Given the description of an element on the screen output the (x, y) to click on. 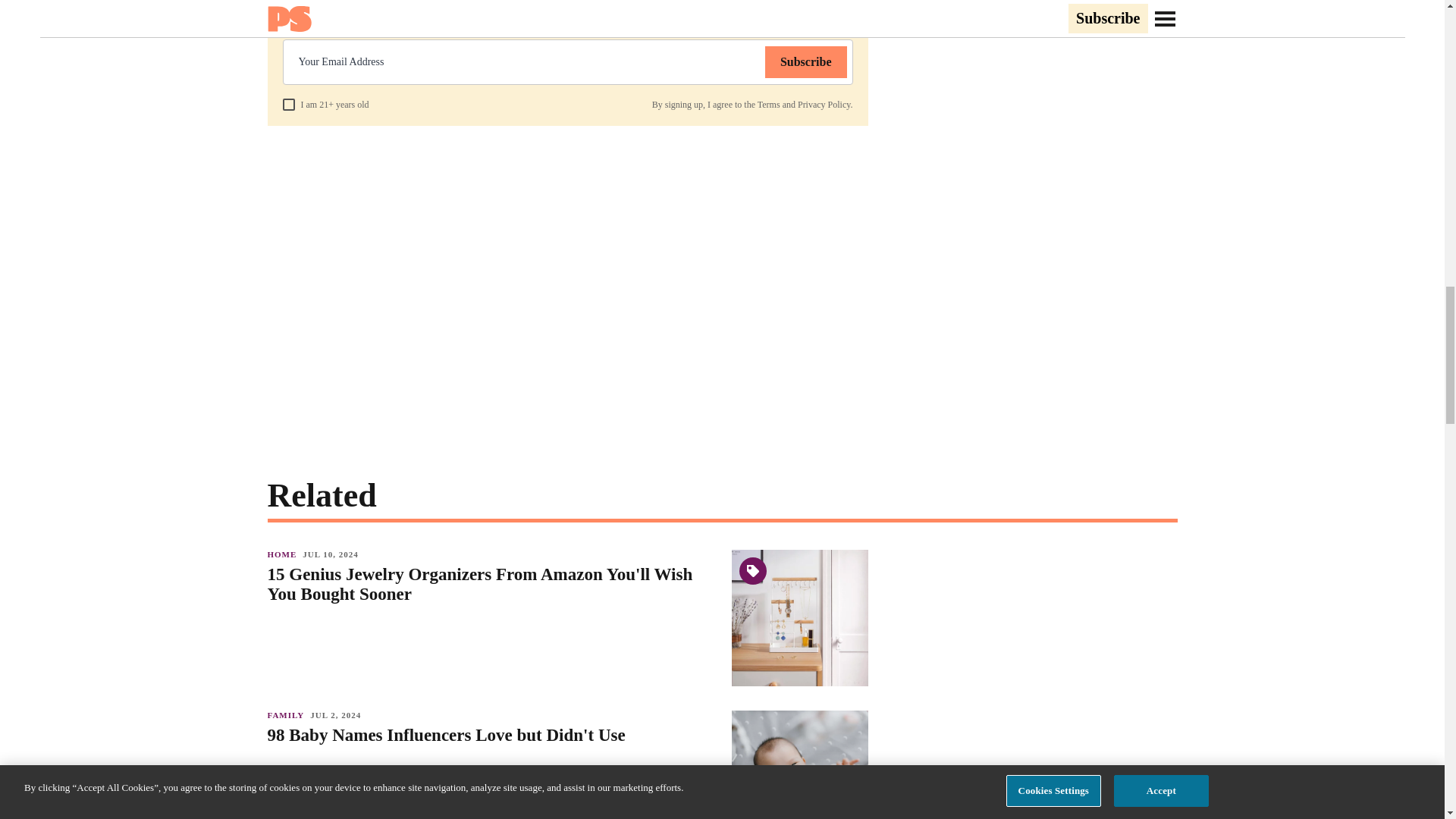
HOME (284, 553)
98 Baby Names Influencers Love but Didn't Use (491, 735)
FAMILY (288, 714)
Subscribe (806, 61)
Privacy Policy. (825, 104)
Terms (768, 104)
